Given the description of an element on the screen output the (x, y) to click on. 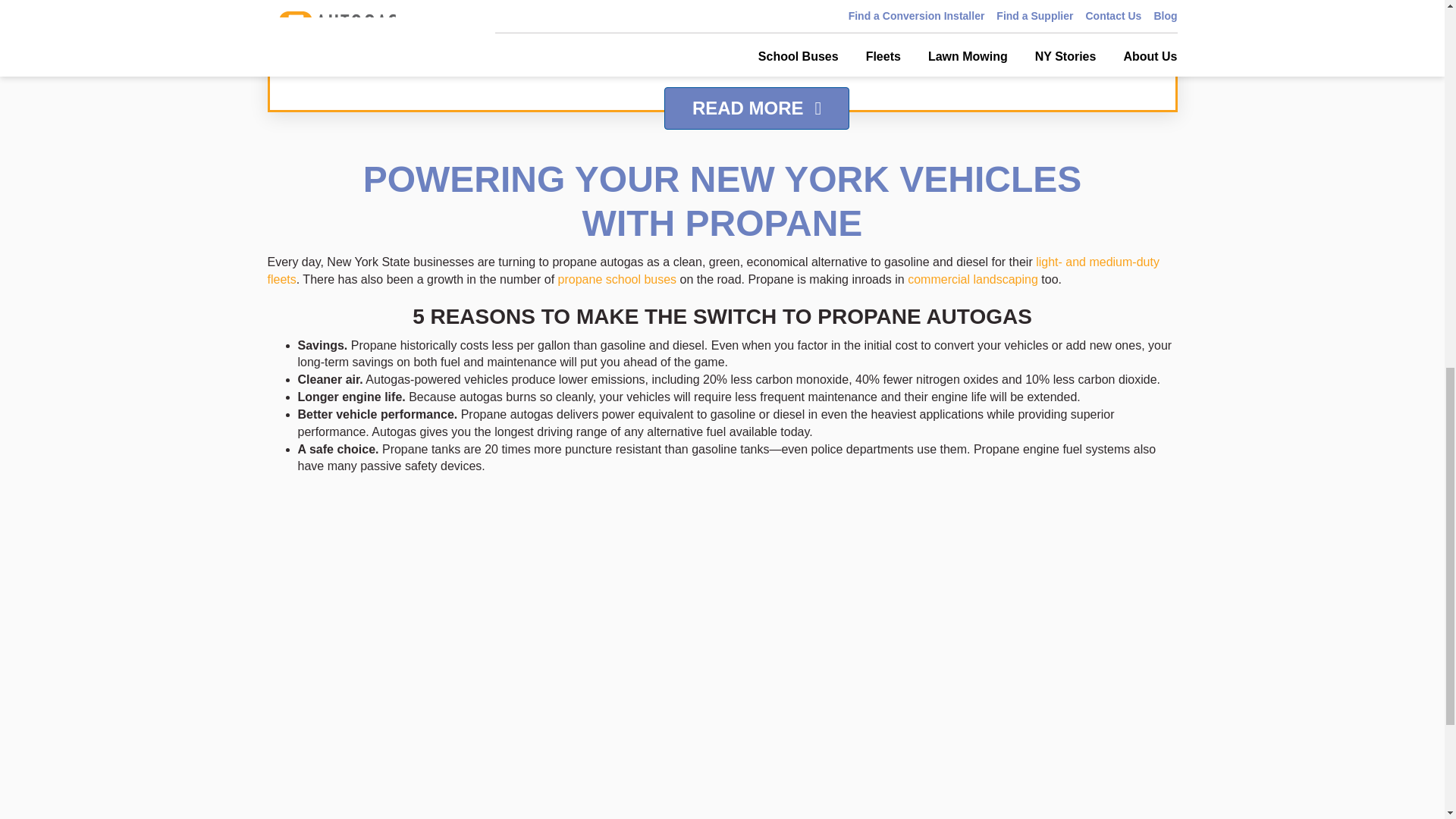
commercial landscaping (972, 278)
propane school buses (617, 278)
light- and medium-duty fleets (712, 270)
READ MORE (755, 107)
